Given the description of an element on the screen output the (x, y) to click on. 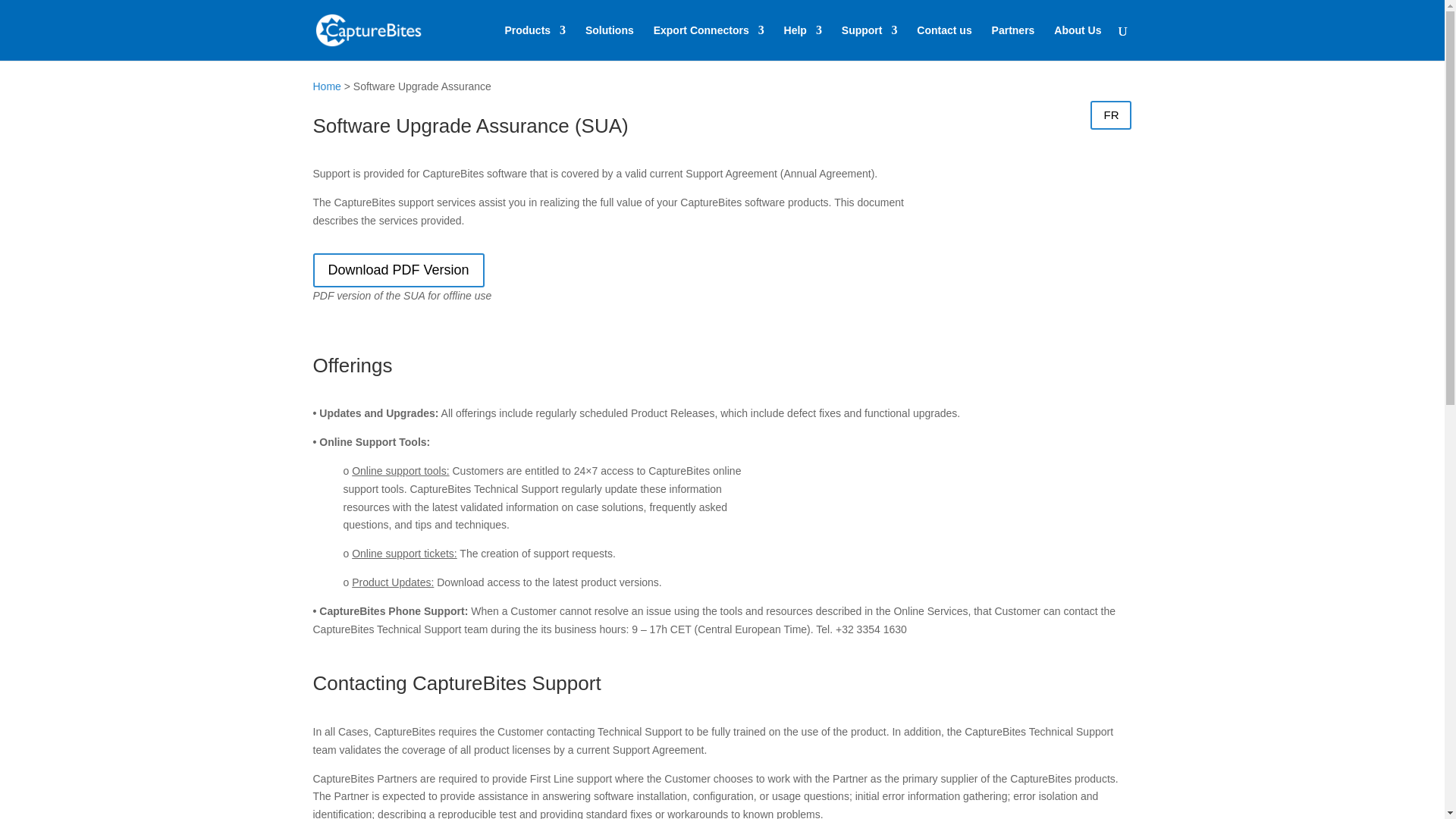
Export Connectors (708, 42)
Solutions (609, 42)
Products (534, 42)
